Given the description of an element on the screen output the (x, y) to click on. 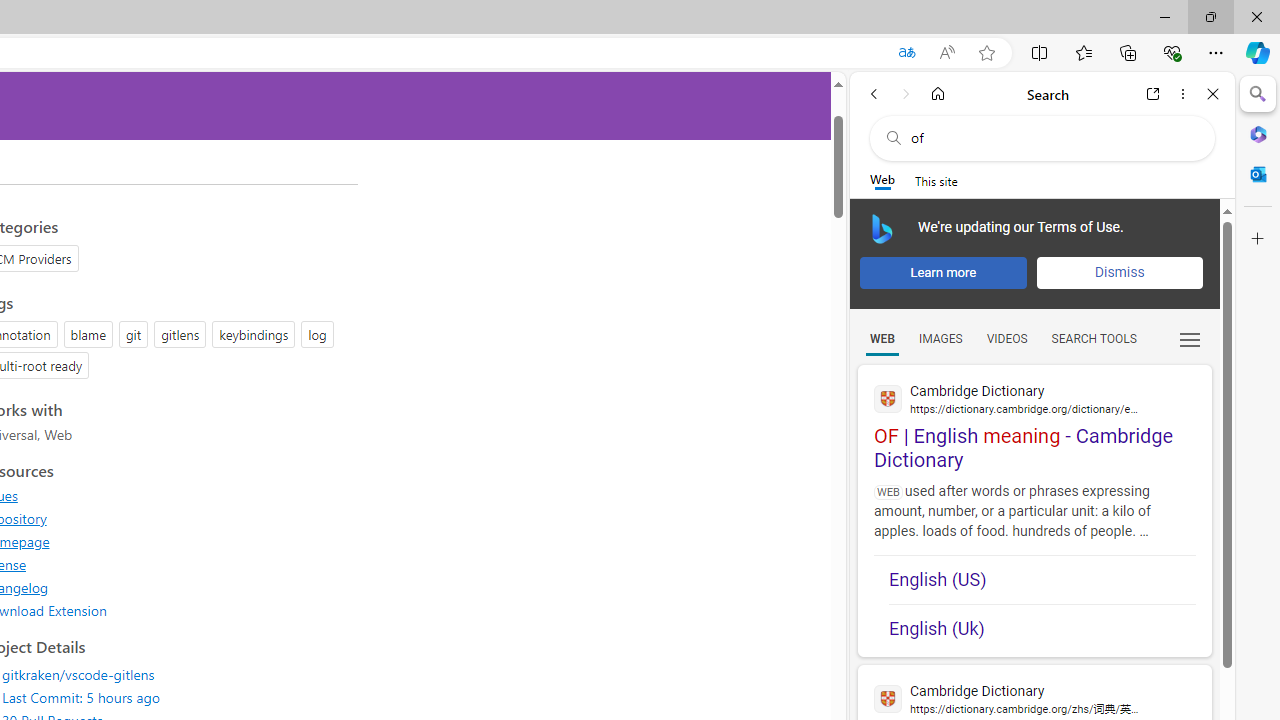
OF | English meaning - Cambridge Dictionary (1034, 419)
Cambridge Dictionary (1034, 698)
Translated (906, 53)
